Given the description of an element on the screen output the (x, y) to click on. 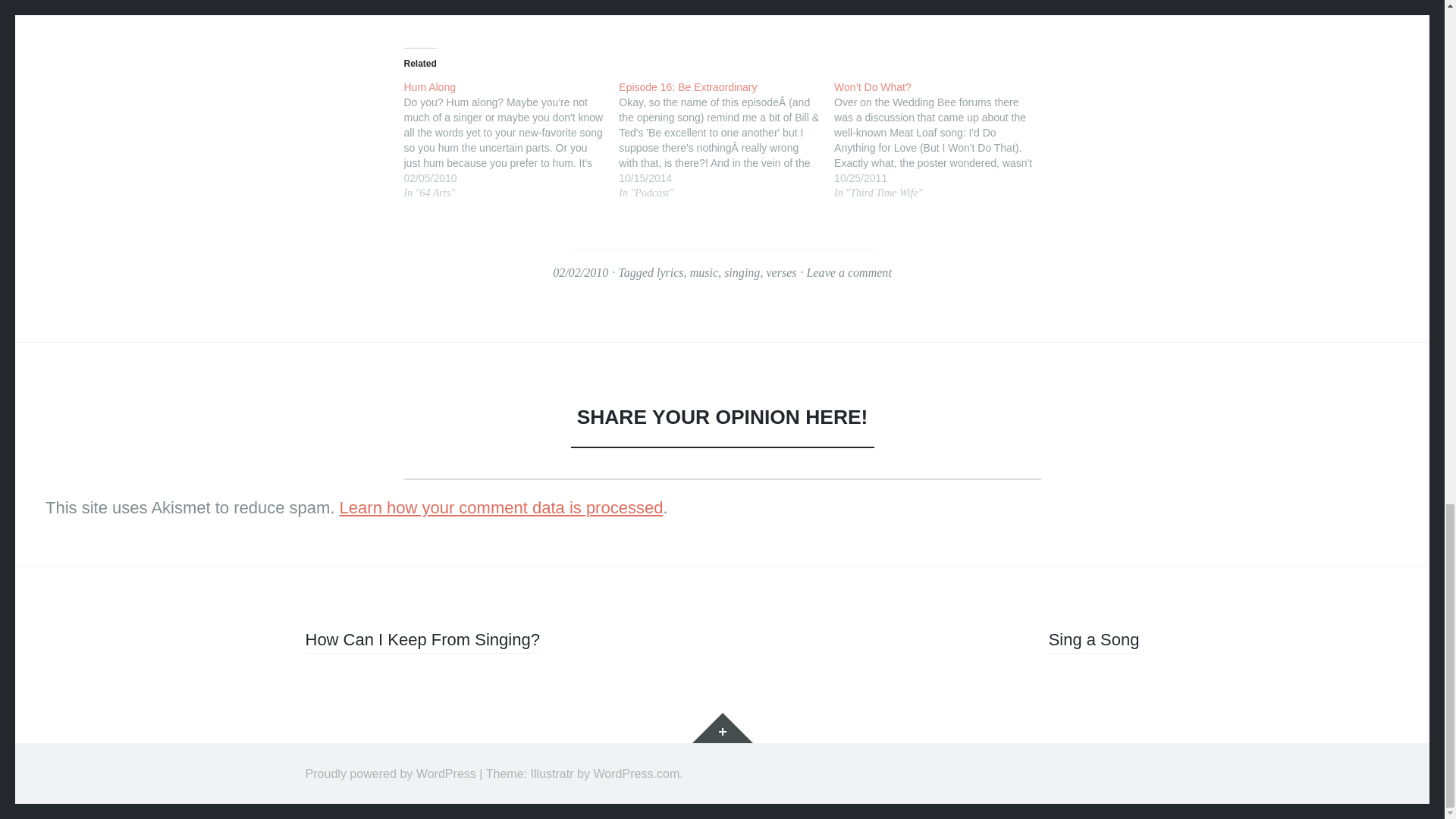
Leave a comment (848, 272)
Episode 16: Be Extraordinary (726, 139)
Episode 16: Be Extraordinary (718, 87)
music (703, 272)
Hum Along (503, 87)
verses (780, 272)
Hum Along (503, 87)
Hum Along (510, 139)
singing (741, 272)
Episode 16: Be Extraordinary (718, 87)
lyrics (670, 272)
